Given the description of an element on the screen output the (x, y) to click on. 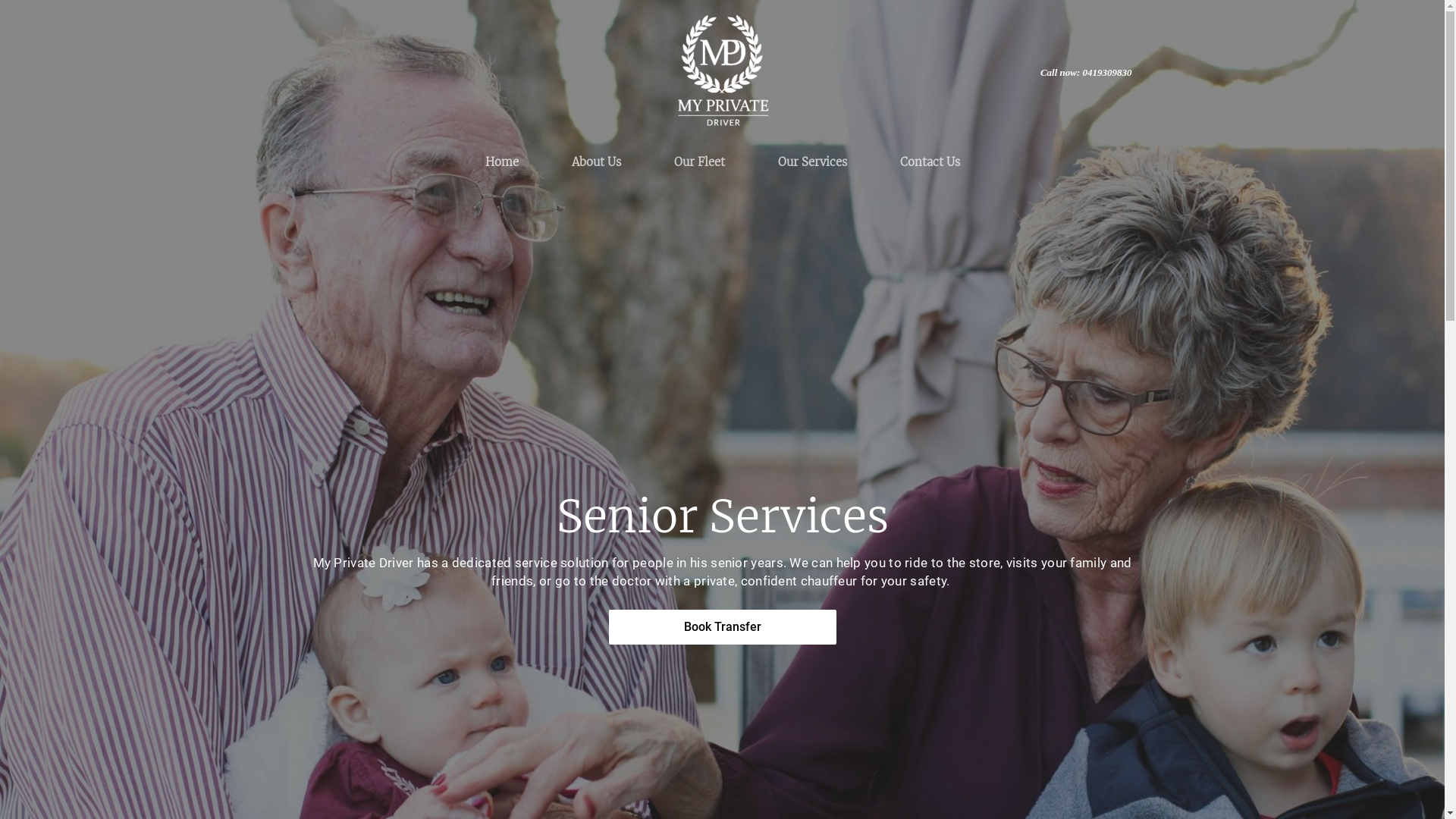
0419309830 Element type: text (1107, 72)
About Us Element type: text (595, 161)
My Private Driver Element type: hover (721, 72)
Our Services Element type: text (811, 161)
Book Transfer Element type: text (721, 626)
Home Element type: text (501, 161)
Contact Us Element type: text (929, 161)
Our Fleet Element type: text (699, 161)
